Given the description of an element on the screen output the (x, y) to click on. 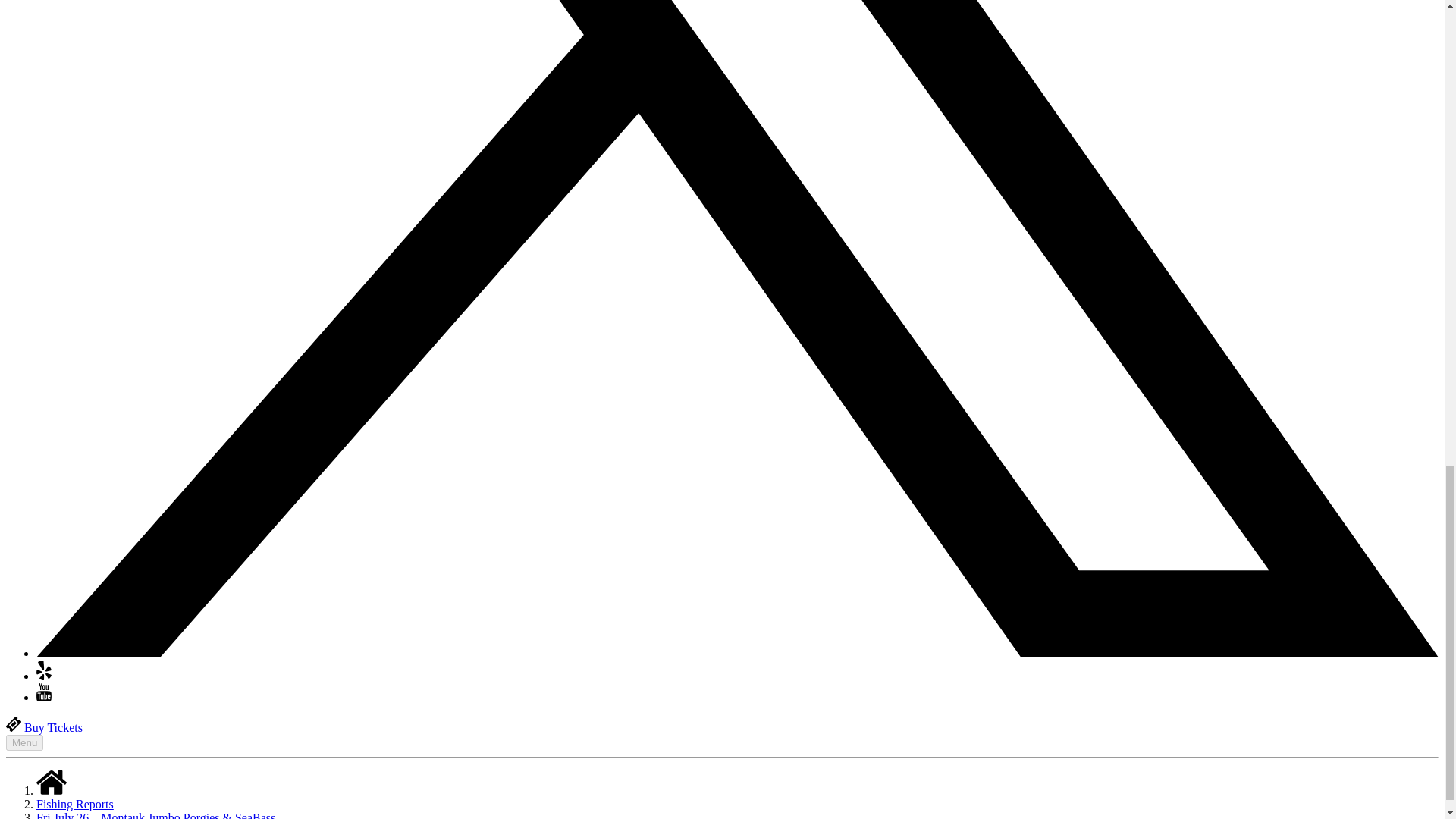
Yelp (43, 675)
YouTube (43, 697)
Ticket Buy Tickets (43, 727)
Ticket (13, 724)
Home (51, 789)
Menu (24, 742)
Home (51, 782)
Fishing Reports (74, 803)
